Given the description of an element on the screen output the (x, y) to click on. 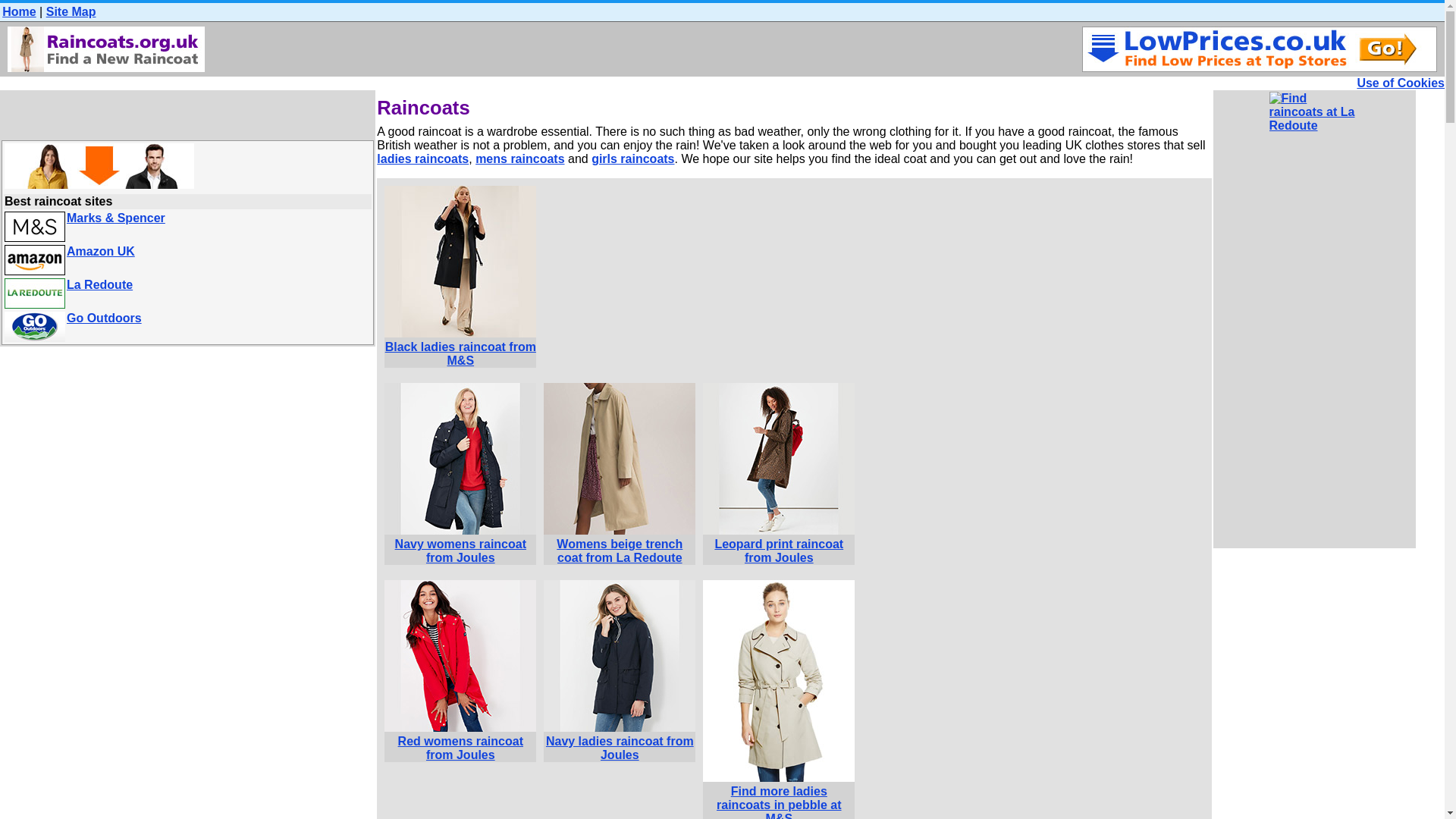
Navy ladies raincoat from Joules (619, 741)
Find raincoats at Low Prices (1259, 49)
Leopard print raincoat from Joules (778, 544)
Home (18, 11)
ladies raincoats (422, 158)
La Redoute (99, 284)
Red womens raincoat (459, 655)
Leopard print raincoat (778, 458)
mens raincoats (520, 158)
Raincoat Shops UK (98, 166)
Navy womens raincoat (459, 458)
Raincoats Home Page (106, 49)
Navy womens raincoat from Joules (459, 544)
Go Outdoors (103, 318)
Womens beige trench coat (619, 458)
